Given the description of an element on the screen output the (x, y) to click on. 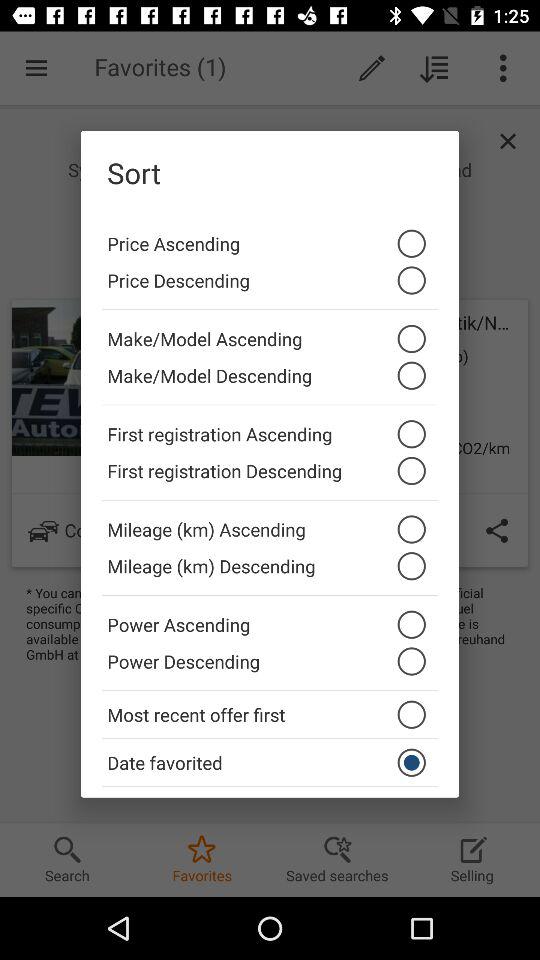
choose icon above power descending item (269, 619)
